Given the description of an element on the screen output the (x, y) to click on. 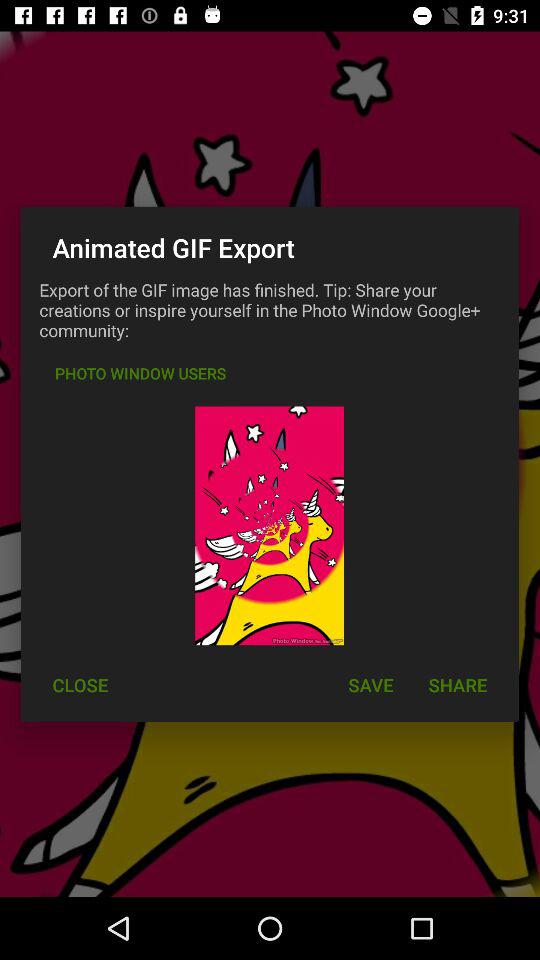
choose icon below photo window users icon (80, 684)
